Given the description of an element on the screen output the (x, y) to click on. 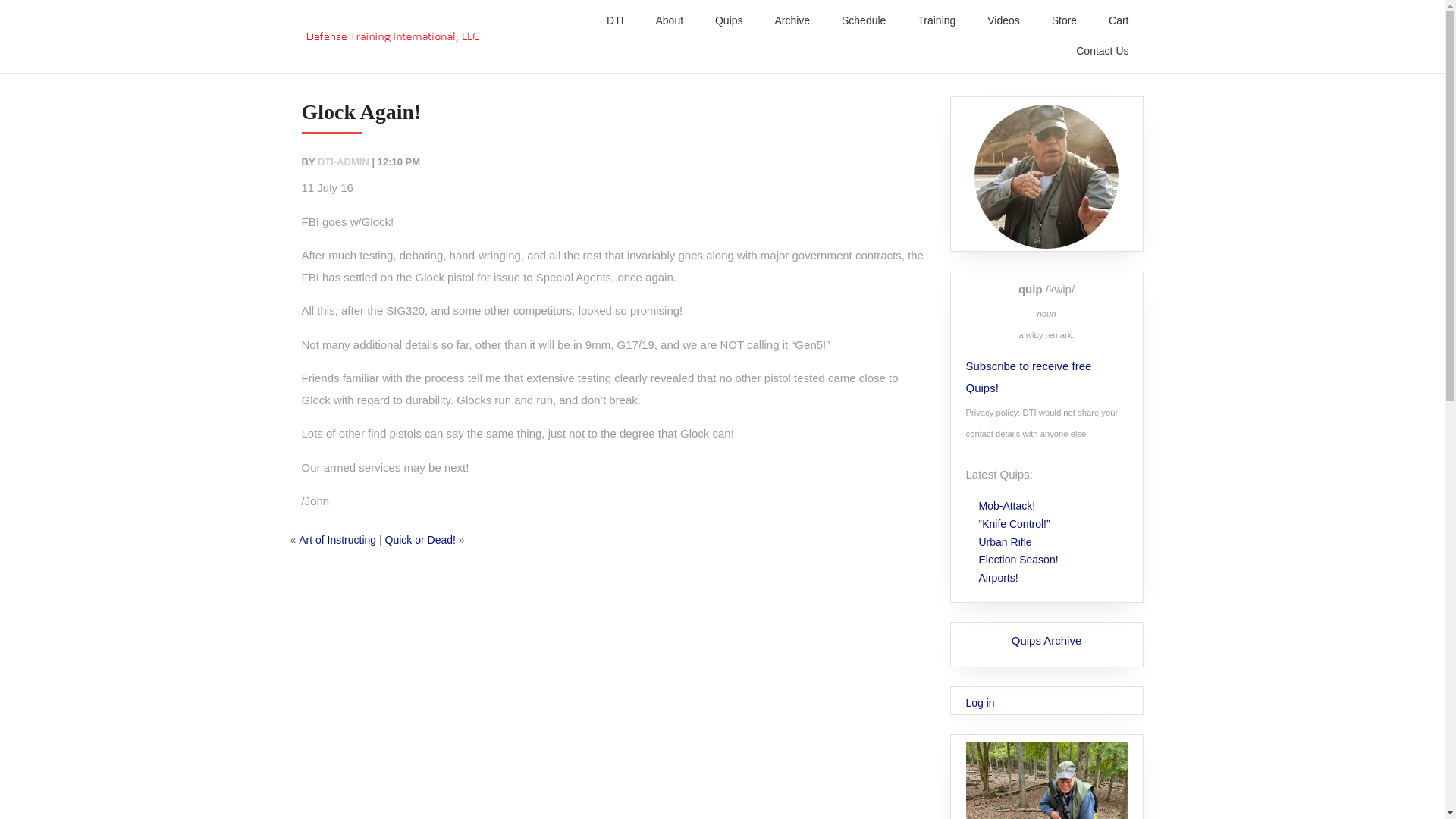
Contact Us (1101, 51)
Quick or Dead! (420, 539)
Urban Rifle (1005, 541)
Art of Instructing (337, 539)
Archive (791, 20)
DTI (615, 20)
Quips (729, 20)
Airports! (998, 577)
Posts by admin (343, 161)
DTI-ADMIN (343, 161)
Videos (1003, 20)
Store (1064, 20)
Log in (978, 702)
Subscribe to receive free Quips! (1026, 376)
Schedule (864, 20)
